Given the description of an element on the screen output the (x, y) to click on. 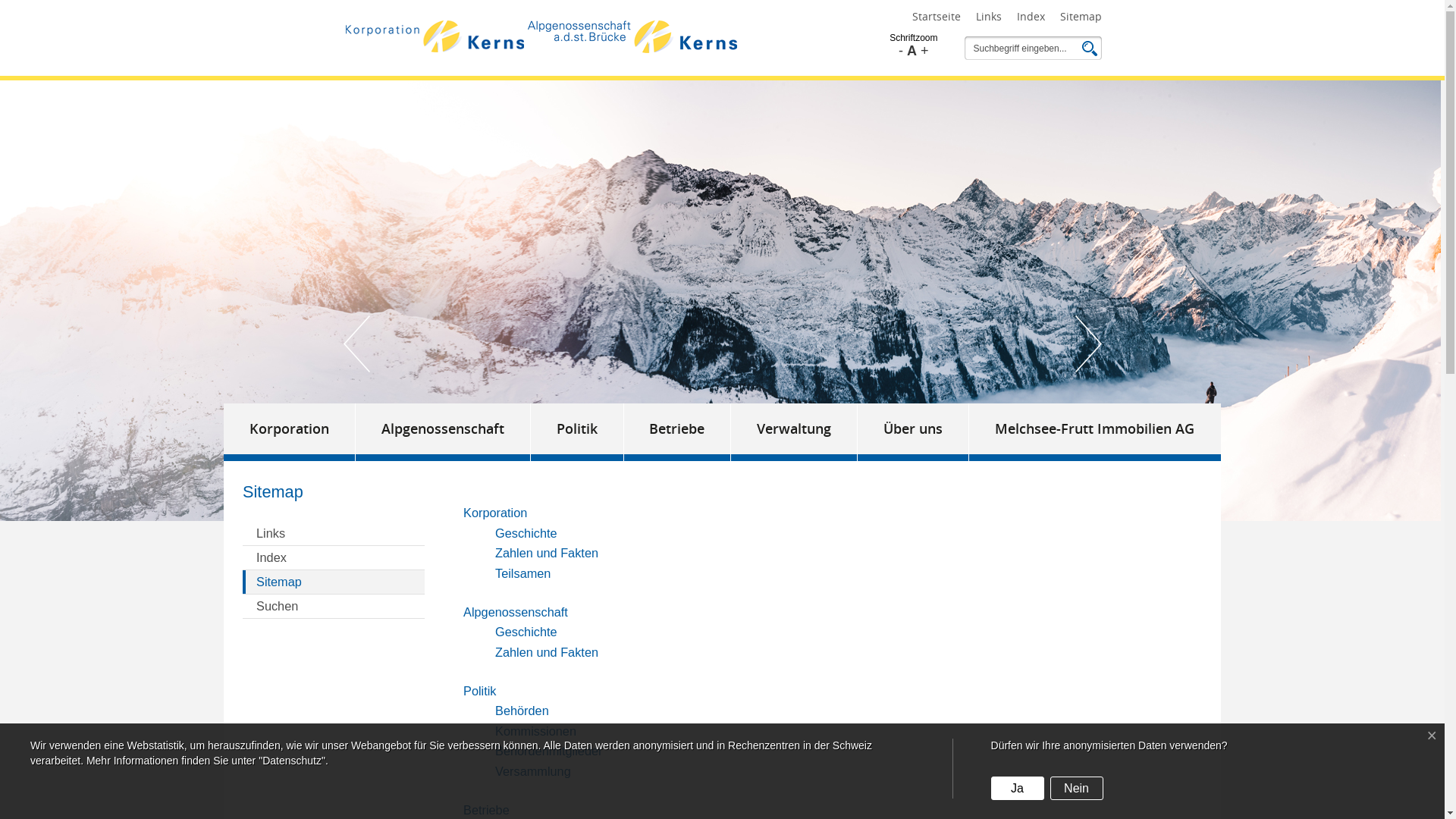
Startseite Element type: text (935, 17)
Index Element type: text (333, 558)
Betriebe Element type: text (677, 432)
Zahlen und Fakten Element type: text (546, 552)
Alpgenossenschaft Element type: text (442, 432)
Zahlen und Fakten Element type: text (546, 651)
Links Element type: text (988, 17)
Politik Element type: text (479, 690)
Links Element type: text (333, 533)
+ Element type: text (924, 50)
Politik Element type: text (577, 432)
Versammlung Element type: text (533, 771)
Betriebe Element type: text (486, 808)
Index Element type: text (1030, 17)
Geschichte Element type: text (526, 532)
Melchsee-Frutt Immobilien AG Element type: text (1094, 432)
Verwaltung Element type: text (794, 432)
Korporation Element type: text (289, 432)
Nein Element type: text (1076, 788)
A Element type: text (911, 50)
Geschichte Element type: text (526, 631)
Sitemap Element type: text (1080, 17)
Suchen Element type: text (333, 606)
Suchbegriff eingeben... Element type: text (1022, 48)
Ja Element type: text (1017, 788)
Korporation Element type: text (495, 512)
Teilsamen Element type: text (522, 573)
Kommissionen Element type: text (535, 730)
Alpgenossenschaft Element type: text (515, 611)
Sitemap Element type: text (333, 582)
- Element type: text (900, 50)
